Given the description of an element on the screen output the (x, y) to click on. 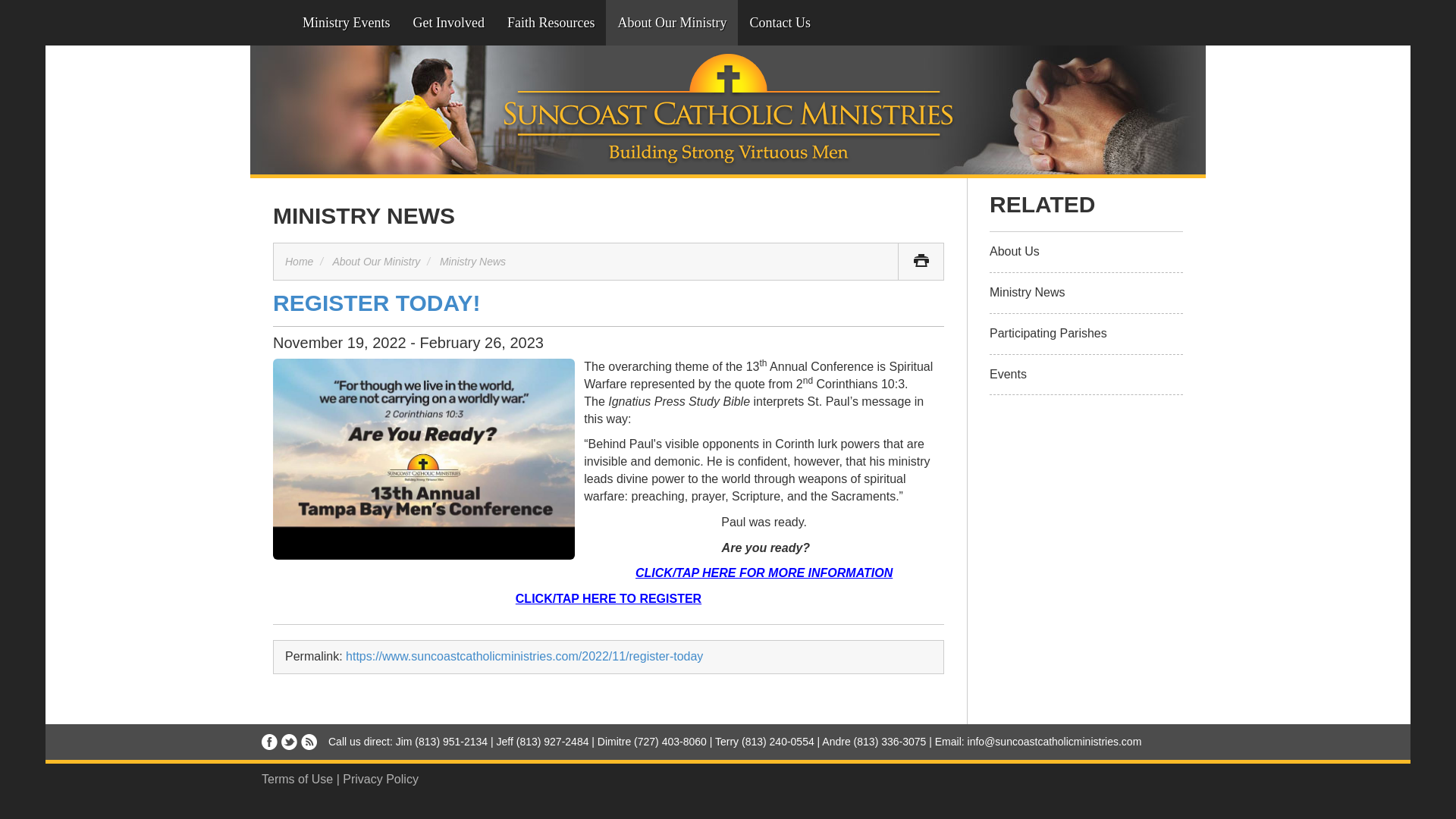
MINISTRY NEWS (363, 215)
Print (920, 261)
Home (299, 261)
About Our Ministry (375, 261)
About Our Ministry (671, 22)
Home (270, 22)
Contact Us (780, 22)
Ministry News (472, 261)
Ministry Events (346, 22)
Get Involved (448, 22)
Search (842, 22)
Faith Resources (550, 22)
